Given the description of an element on the screen output the (x, y) to click on. 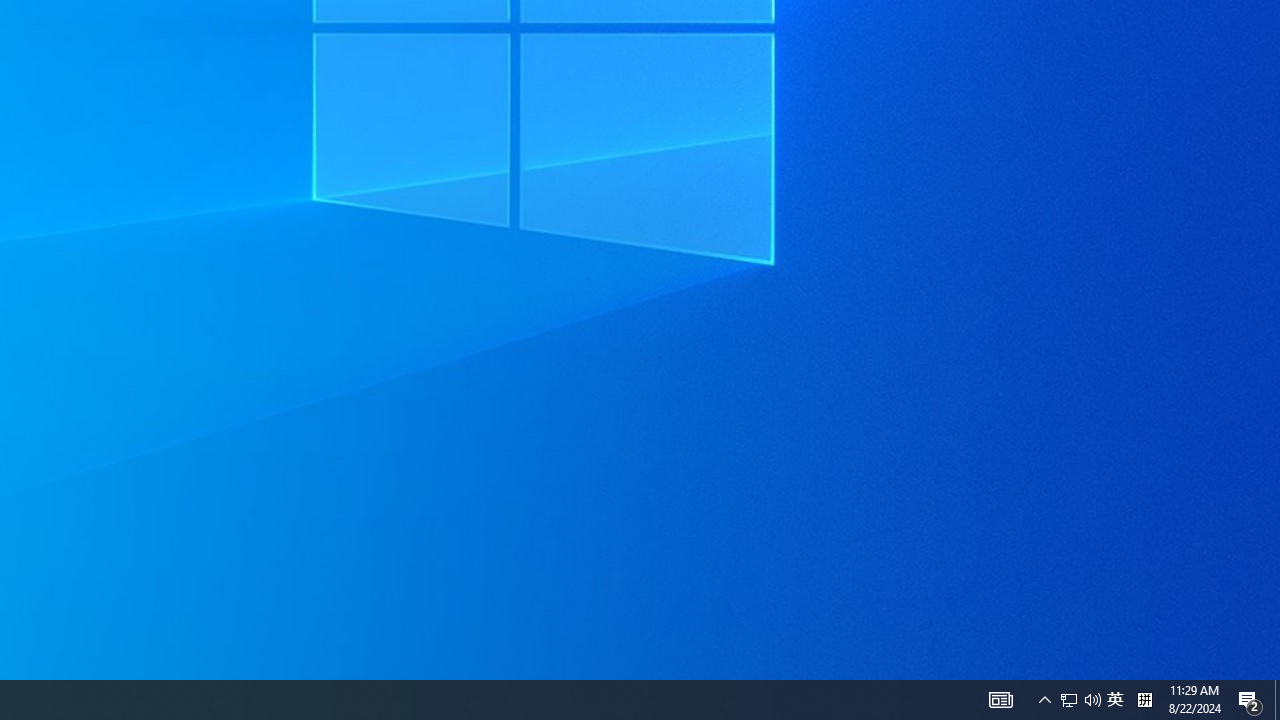
Tray Input Indicator - Chinese (Simplified, China) (1115, 699)
User Promoted Notification Area (1144, 699)
Show desktop (1080, 699)
AutomationID: 4105 (1069, 699)
Q2790: 100% (1277, 699)
Notification Chevron (1000, 699)
Action Center, 2 new notifications (1092, 699)
